Given the description of an element on the screen output the (x, y) to click on. 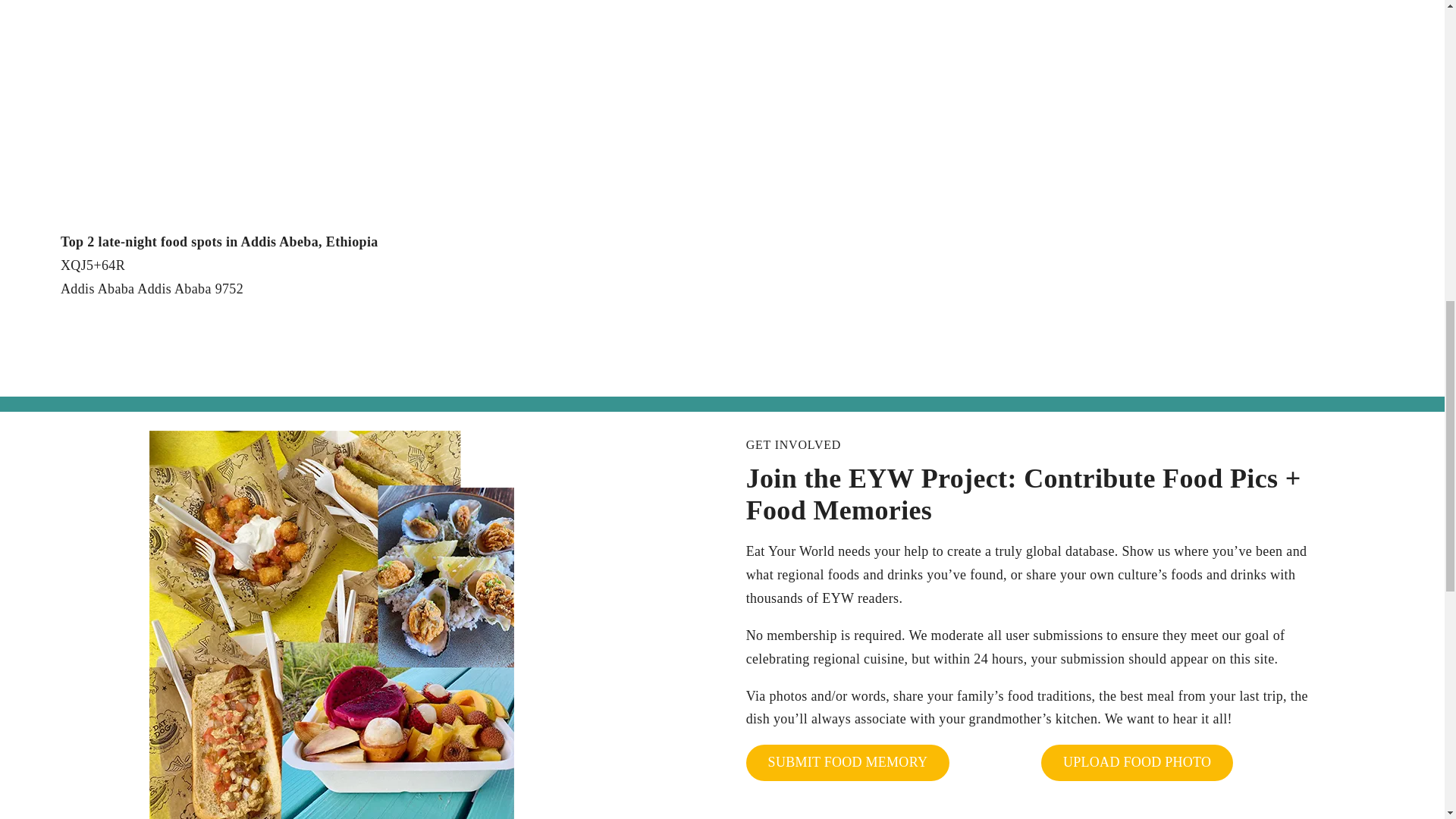
separator plane (689, 354)
